Given the description of an element on the screen output the (x, y) to click on. 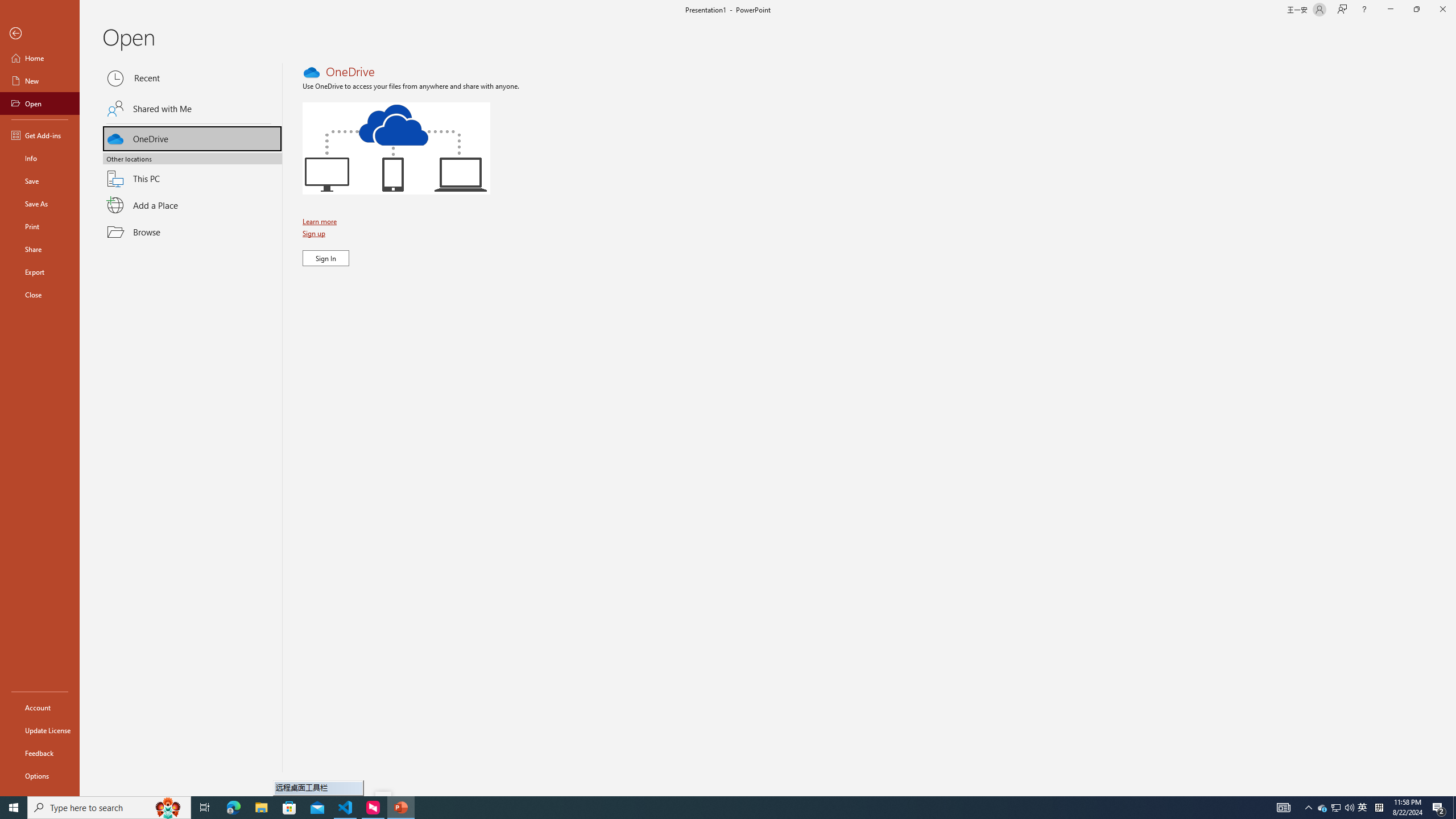
Account (40, 707)
Sign In (325, 258)
Export (40, 271)
Back (40, 33)
Feedback (40, 753)
Print (40, 225)
Shared with Me (192, 108)
Learn more (320, 221)
This PC (192, 171)
Info (40, 157)
